Given the description of an element on the screen output the (x, y) to click on. 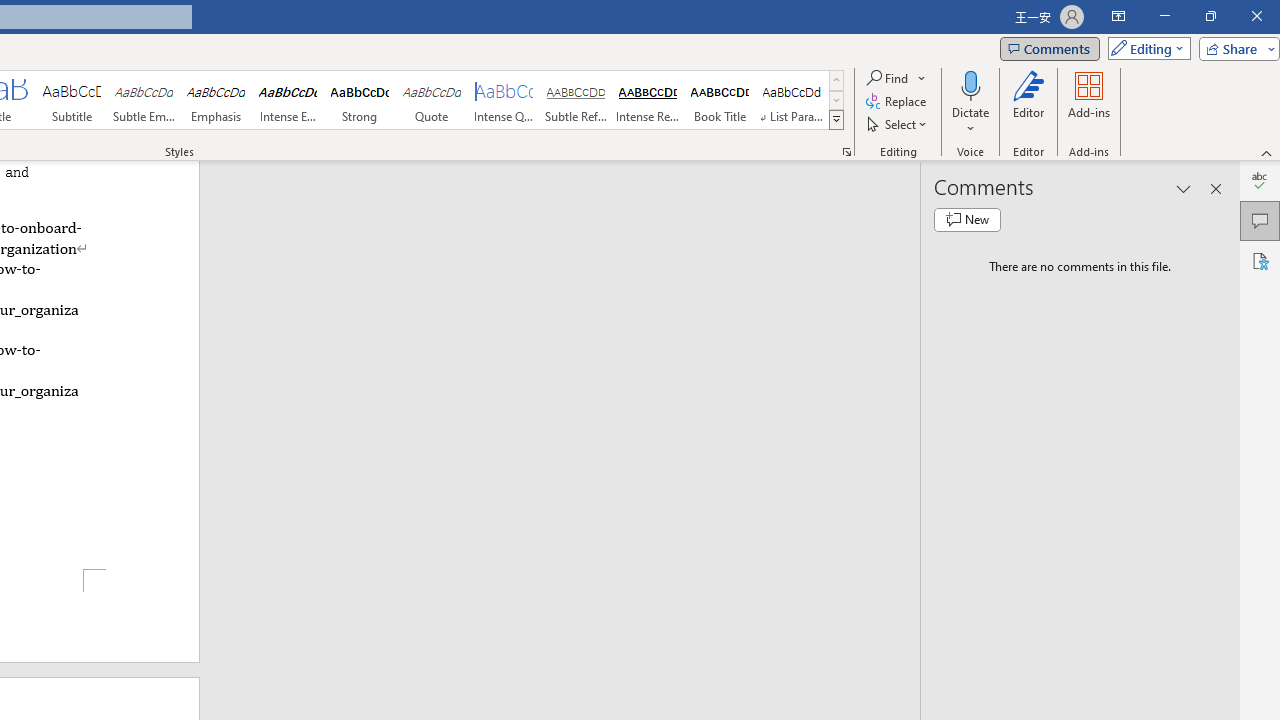
Intense Reference (647, 100)
Intense Quote (504, 100)
Subtle Emphasis (143, 100)
Subtitle (71, 100)
